Given the description of an element on the screen output the (x, y) to click on. 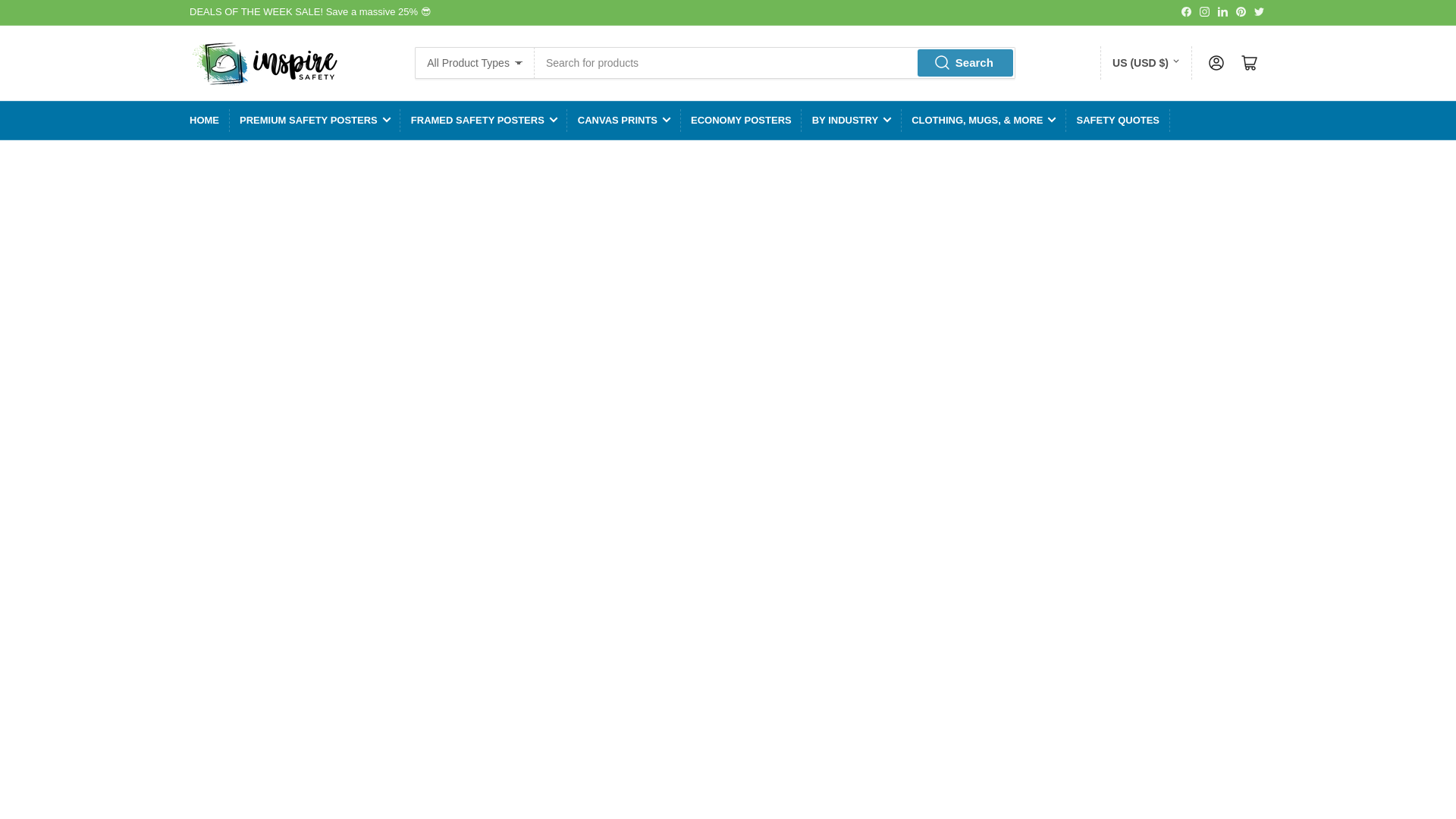
Search (964, 62)
Pinterest (1240, 11)
LinkedIn (1222, 11)
Twitter (1259, 11)
Facebook (1186, 11)
Instagram (1203, 11)
